Given the description of an element on the screen output the (x, y) to click on. 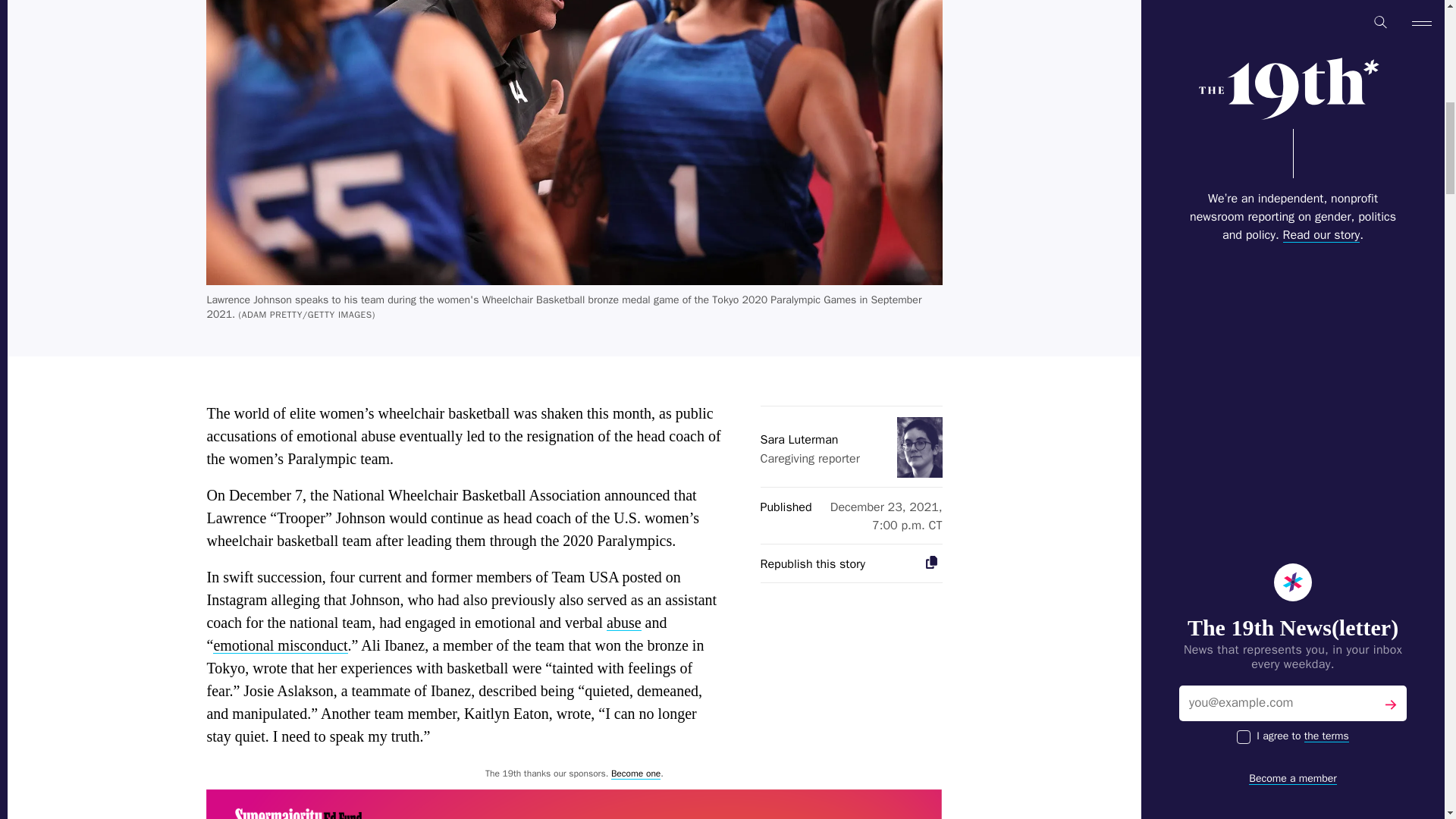
Speaker Series 970x250 (574, 804)
